Given the description of an element on the screen output the (x, y) to click on. 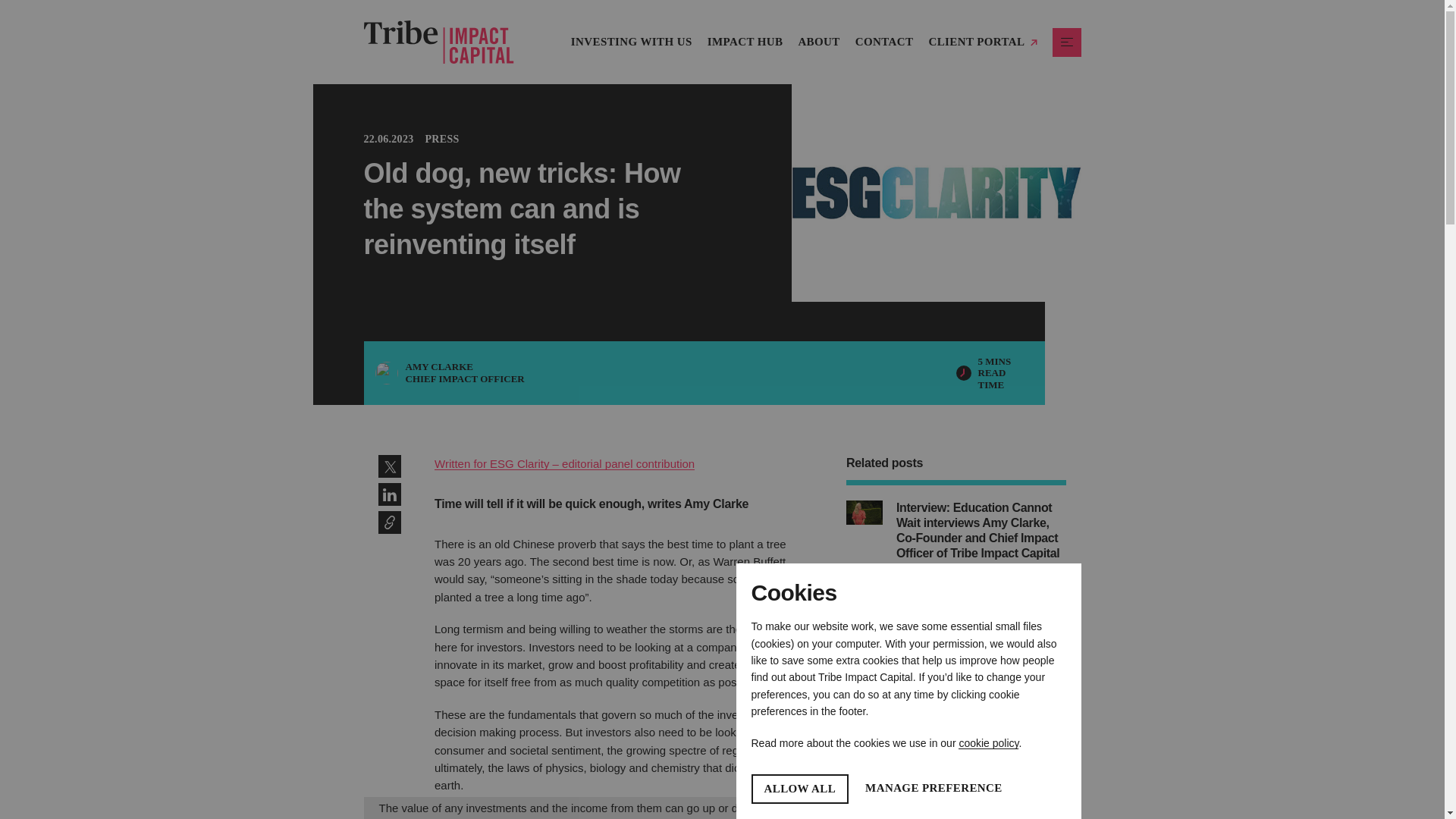
IMPACT HUB (745, 41)
MANAGE PREFERENCE (933, 788)
cookie policy (987, 743)
ABOUT (818, 41)
CONTACT (885, 41)
INVESTING WITH US (799, 788)
CLIENT PORTAL (631, 41)
